Given the description of an element on the screen output the (x, y) to click on. 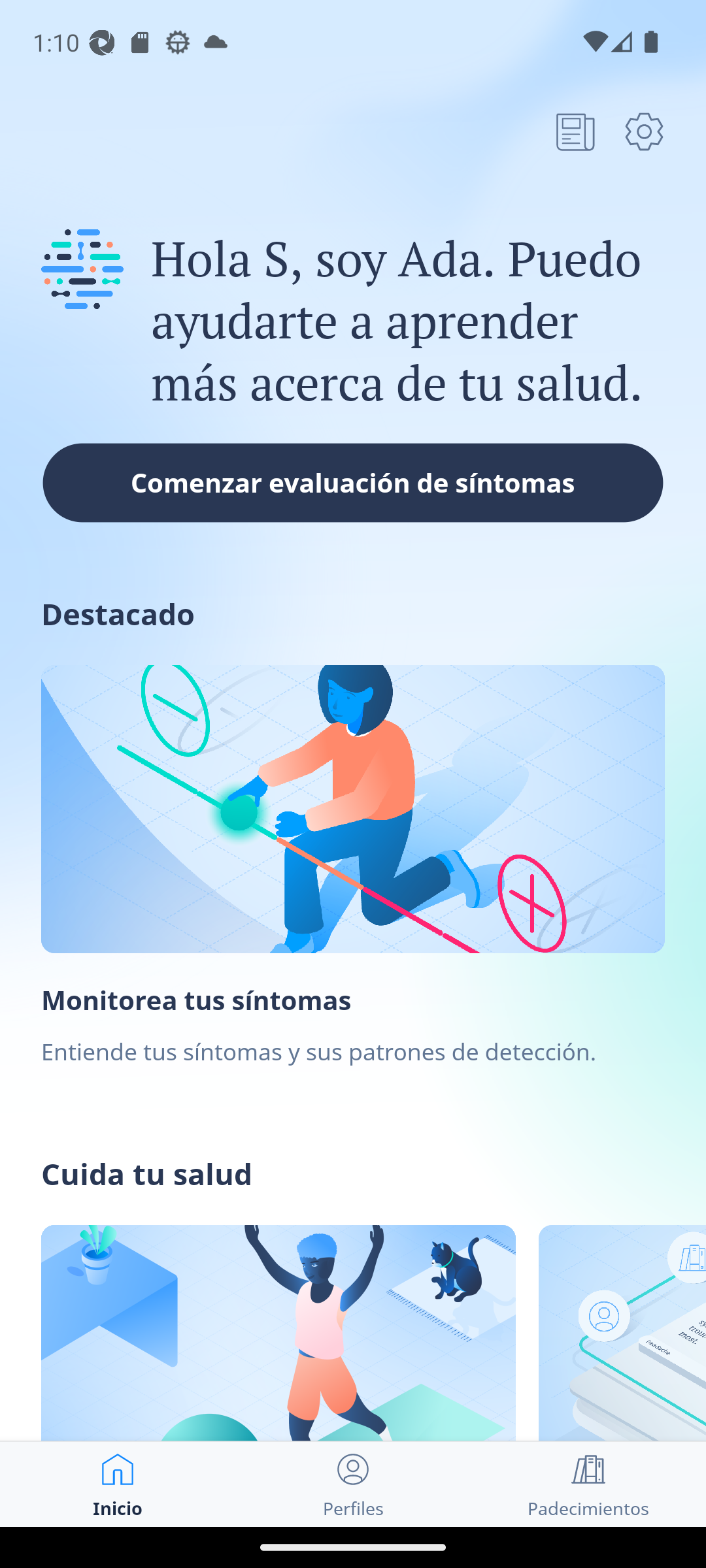
article icon , open articles (574, 131)
settings icon, open settings (644, 131)
Comenzar evaluación de síntomas (352, 482)
Inicio (117, 1484)
Perfiles (352, 1484)
Padecimientos (588, 1484)
